Given the description of an element on the screen output the (x, y) to click on. 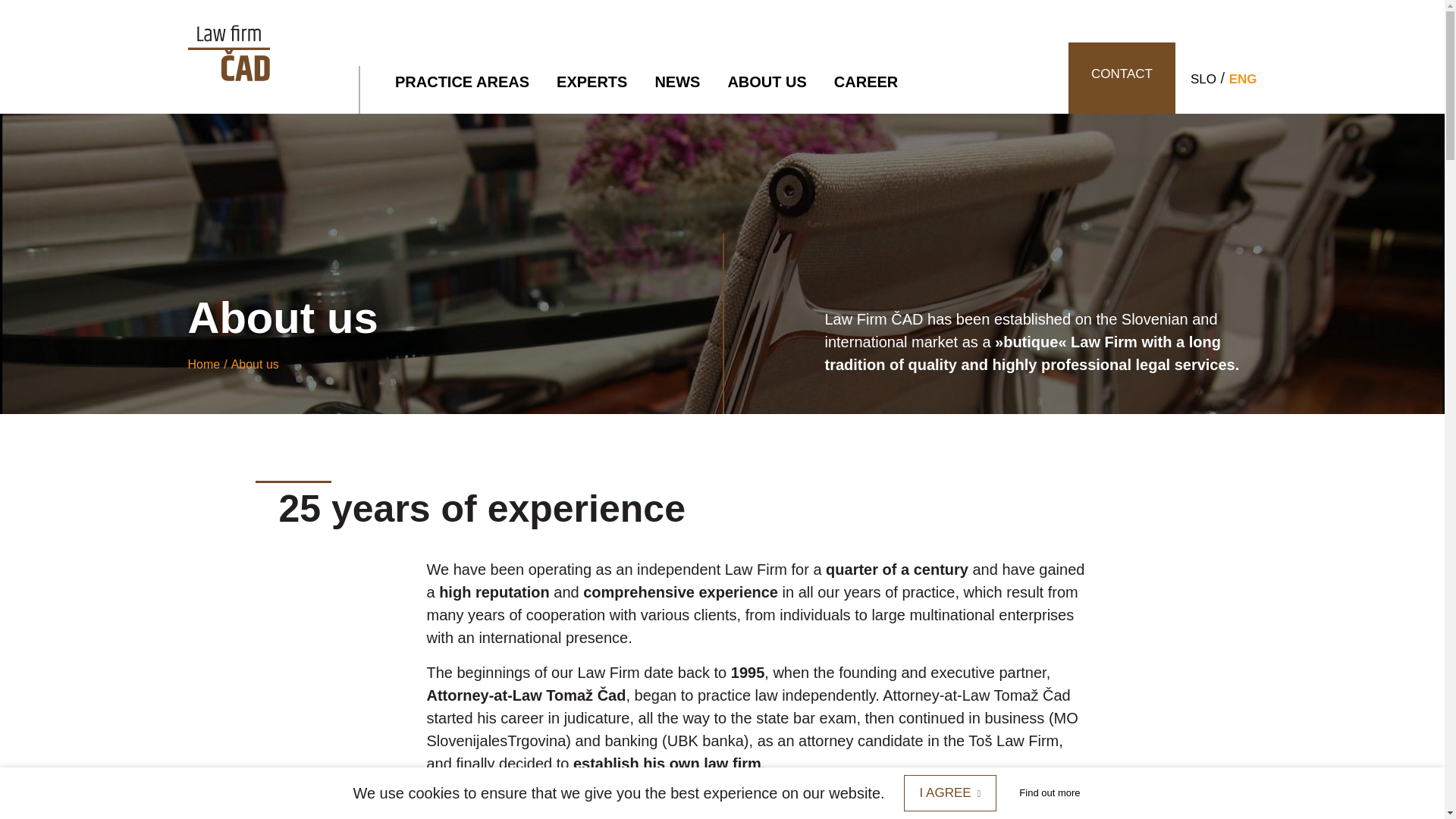
Find out more (1048, 792)
EXPERTS (591, 81)
Home (204, 363)
About us (255, 363)
I AGREE (950, 792)
NEWS (676, 81)
SLO (1203, 79)
Contact (1121, 77)
CONTACT (1121, 77)
English (1242, 79)
